Given the description of an element on the screen output the (x, y) to click on. 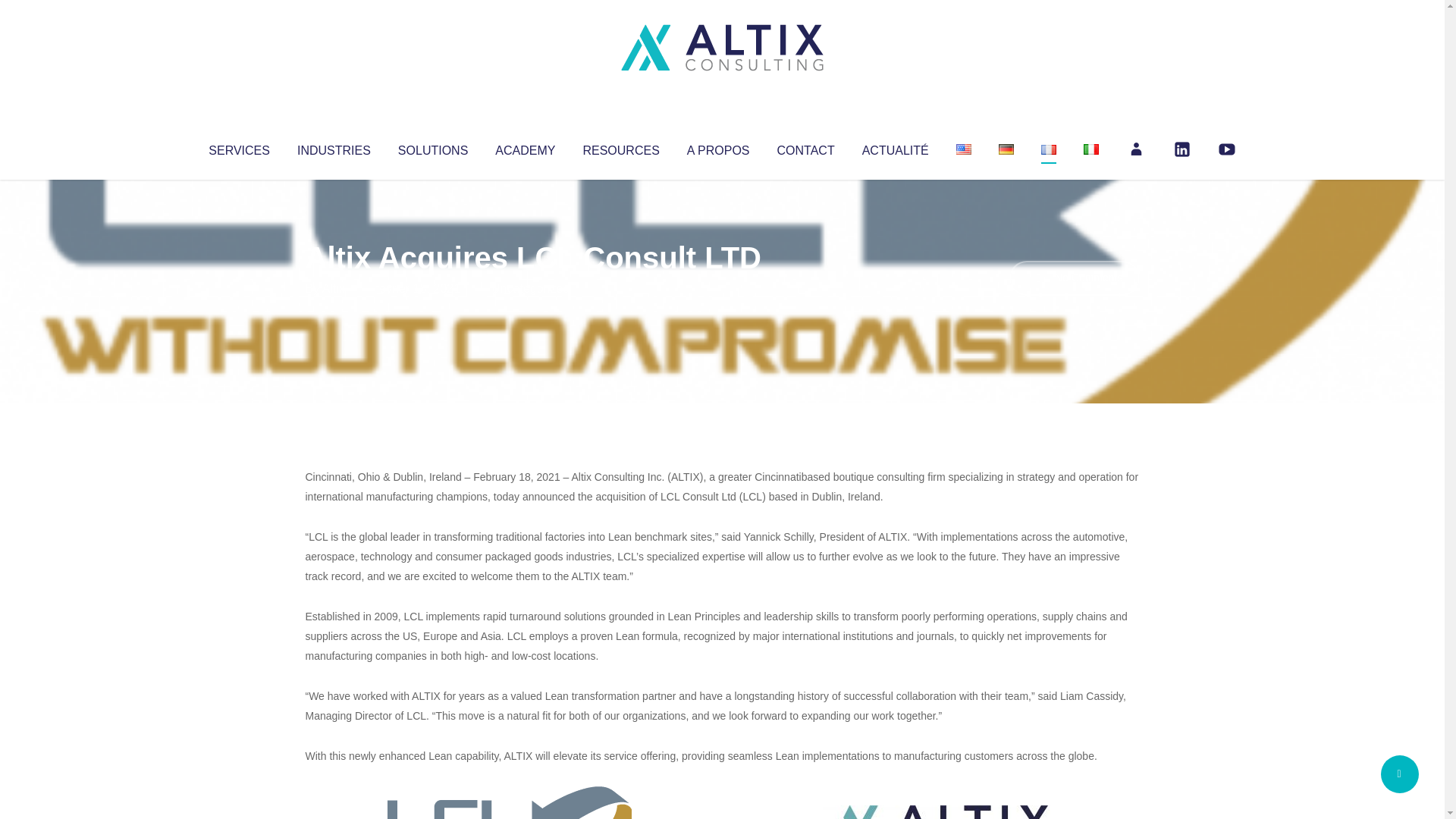
RESOURCES (620, 146)
No Comments (1073, 278)
Altix (333, 287)
SERVICES (238, 146)
Uncategorized (530, 287)
A PROPOS (718, 146)
Articles par Altix (333, 287)
ACADEMY (524, 146)
INDUSTRIES (334, 146)
SOLUTIONS (432, 146)
